Given the description of an element on the screen output the (x, y) to click on. 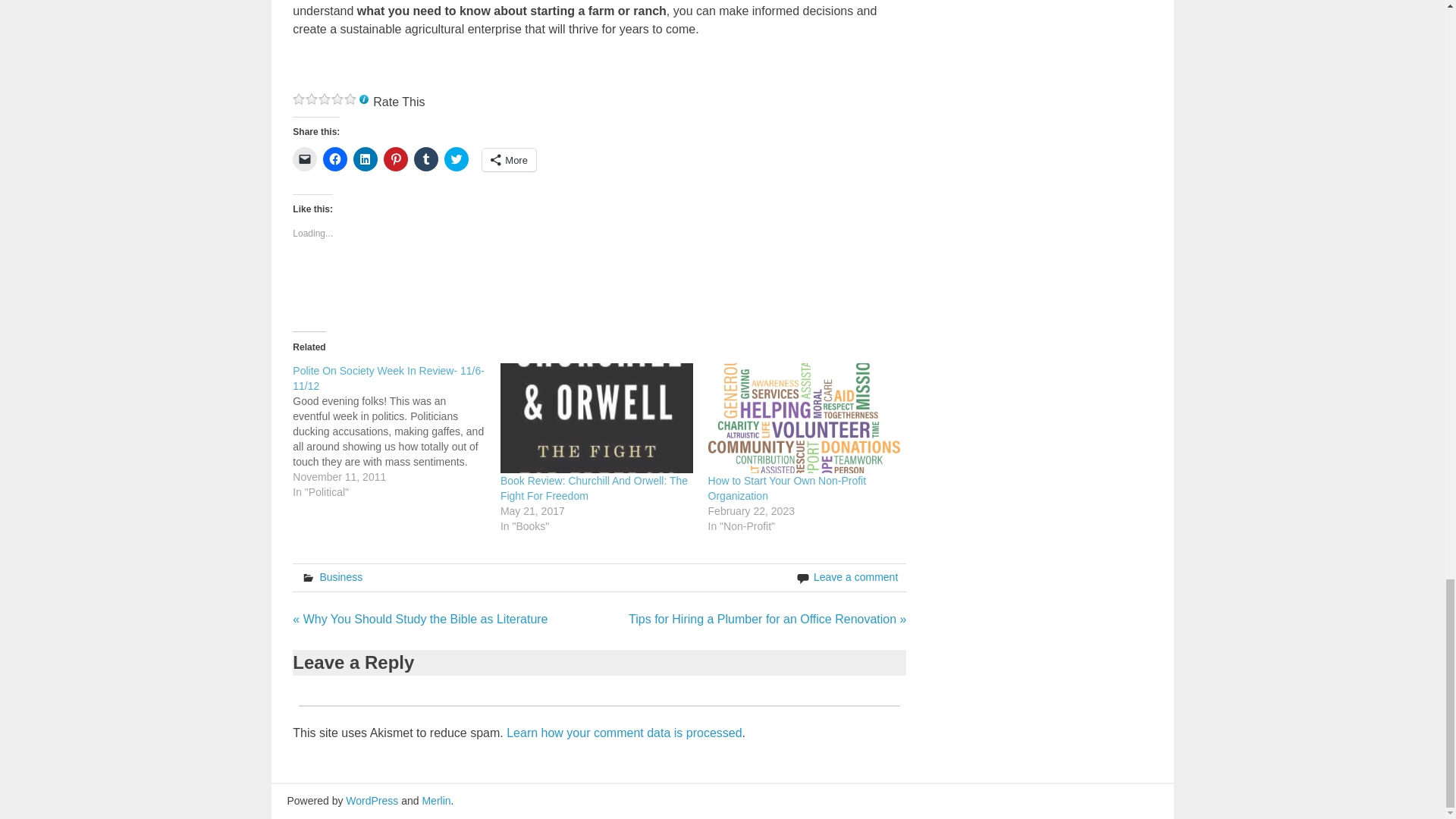
Click to share on Pinterest (395, 159)
More (508, 159)
How to Start Your Own Non-Profit Organization (786, 488)
Like or Reblog (598, 286)
Click to email a link to a friend (304, 159)
Click to share on LinkedIn (365, 159)
Business (340, 576)
Click to share on Twitter (456, 159)
Leave a comment (855, 576)
Click to share on Facebook (335, 159)
Book Review: Churchill And Orwell: The Fight For Freedom (593, 488)
Click to share on Tumblr (425, 159)
